Given the description of an element on the screen output the (x, y) to click on. 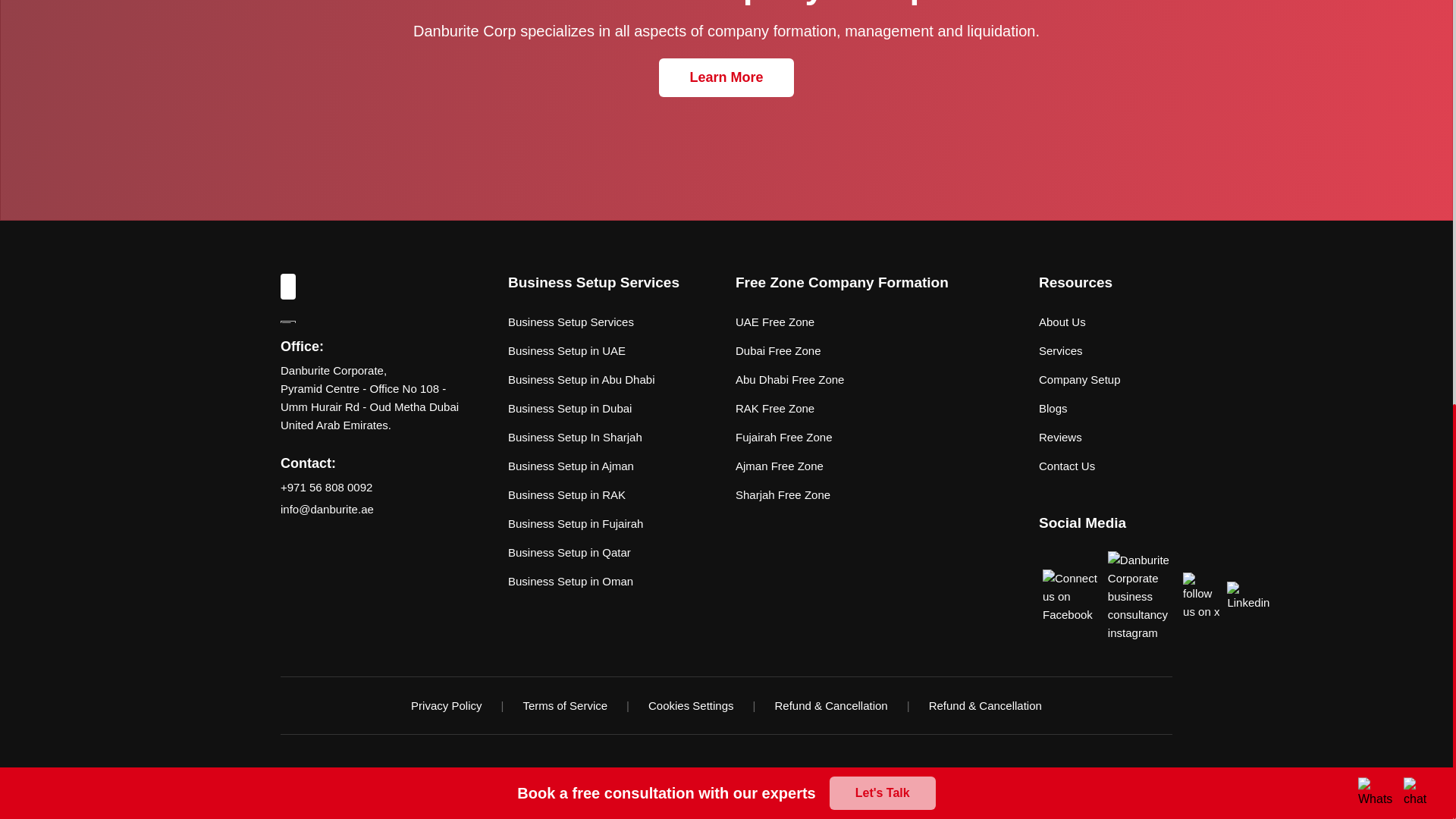
Business Setup in UAE (567, 350)
Business Setup In Sharjah (575, 436)
Business Setup in Abu Dhabi (580, 379)
Business Setup Services (570, 322)
Learn More (726, 77)
Business Setup in Dubai (569, 408)
